Given the description of an element on the screen output the (x, y) to click on. 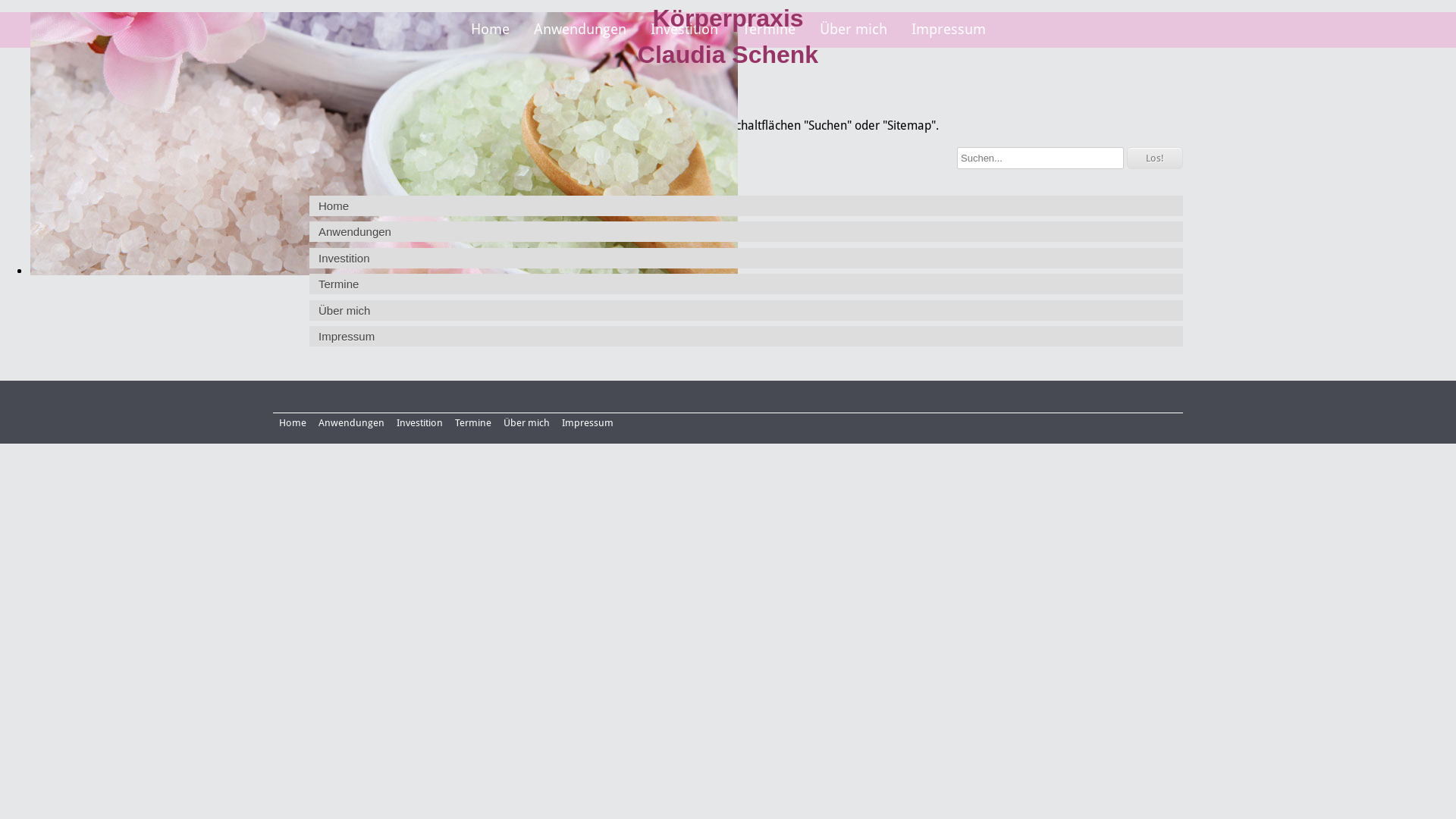
Investition Element type: text (684, 29)
Anwendungen Element type: text (746, 231)
Impressum Element type: text (587, 422)
Impressum Element type: text (948, 29)
Los! Element type: text (1154, 158)
Termine Element type: text (473, 422)
Termine Element type: text (767, 29)
Anwendungen Element type: text (579, 29)
Home Element type: text (489, 29)
Termine Element type: text (746, 283)
Home Element type: text (746, 205)
Investition Element type: text (746, 257)
Anwendungen Element type: text (351, 422)
Investition Element type: text (419, 422)
Home Element type: text (292, 422)
Impressum Element type: text (746, 336)
